Given the description of an element on the screen output the (x, y) to click on. 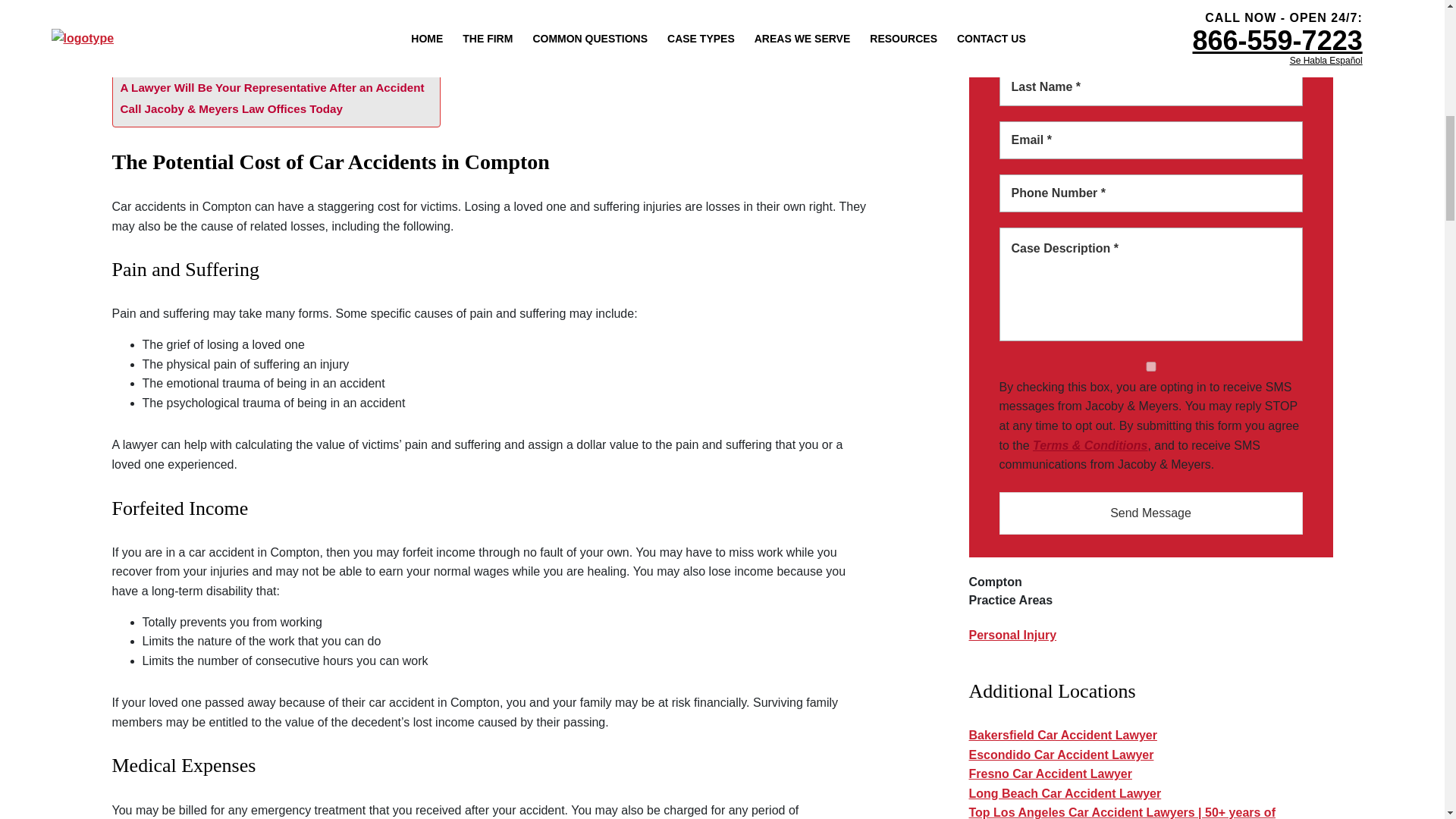
The Potential Cost of Car Accidents in Compton (250, 66)
Send Message (1150, 513)
A Lawyer Will Be Your Representative After an Accident (271, 87)
